Given the description of an element on the screen output the (x, y) to click on. 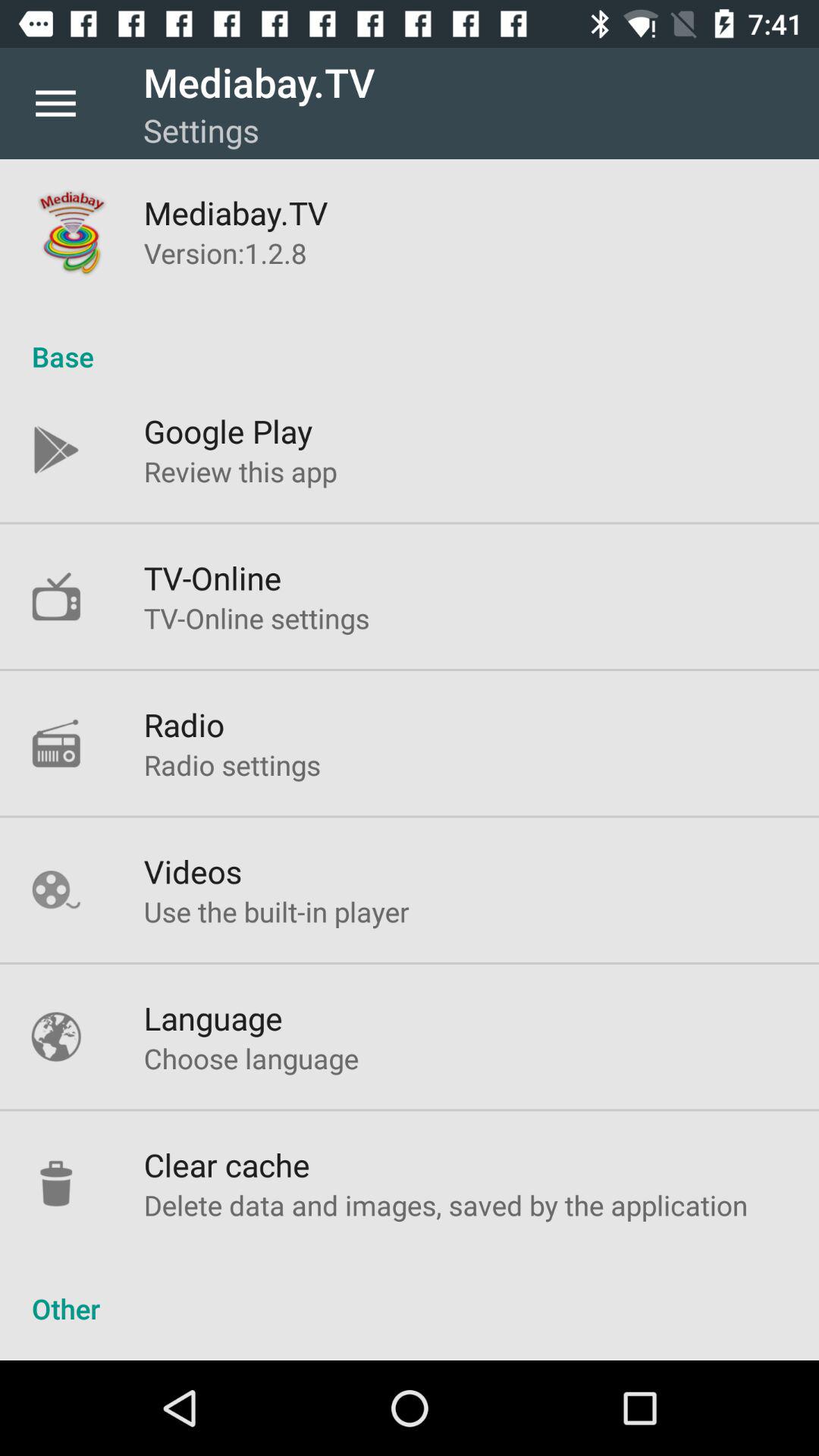
turn on icon to the left of mediabay.tv (55, 103)
